Given the description of an element on the screen output the (x, y) to click on. 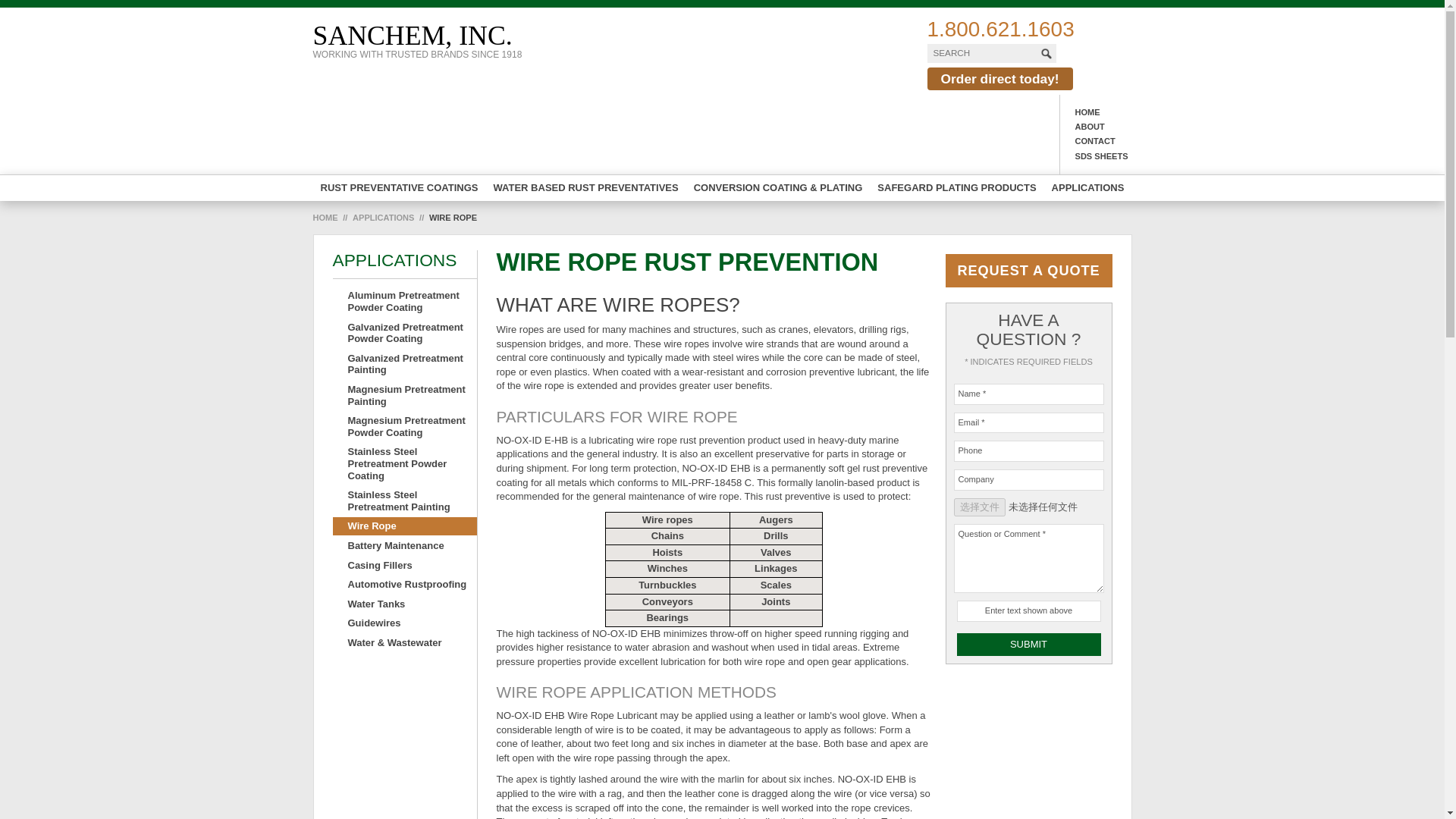
HOME (1095, 112)
WATER BASED RUST PREVENTATIVES (585, 188)
Search (417, 39)
APPLICATIONS (1047, 52)
Home - Industrial Rust Preventative Coatings Company (1087, 188)
RUST PREVENTATIVE COATINGS (417, 39)
ABOUT (398, 188)
SAFEGARD PLATING PRODUCTS (1095, 126)
submit (956, 188)
